Given the description of an element on the screen output the (x, y) to click on. 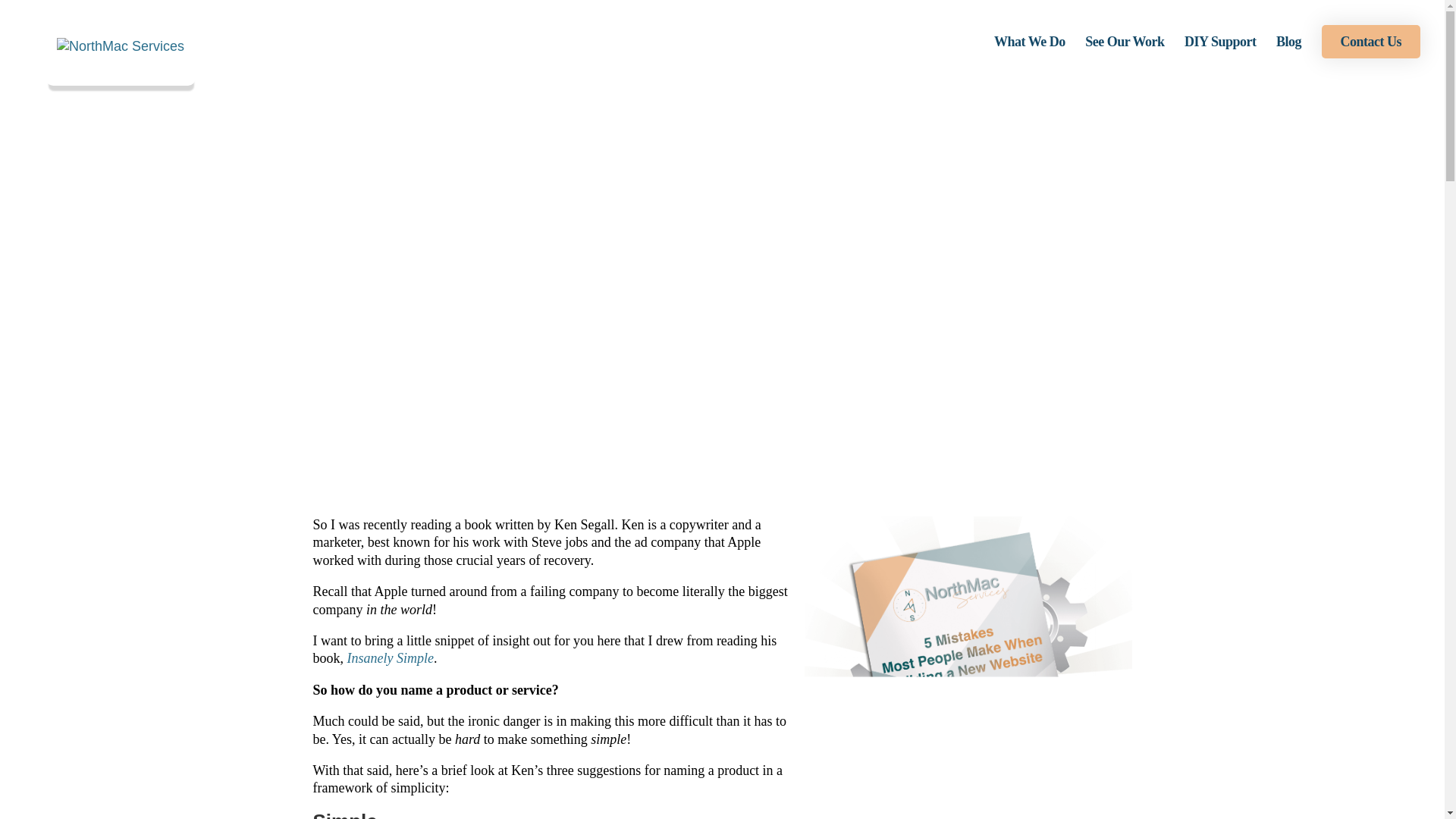
5 (967, 667)
DIY Support (1220, 54)
Marketing (777, 321)
What We Do (1029, 54)
Steve Schramm (696, 321)
Posts by Steve Schramm (696, 321)
Contact Us (1370, 41)
See Our Work (1123, 54)
Insanely Simple (390, 657)
